Given the description of an element on the screen output the (x, y) to click on. 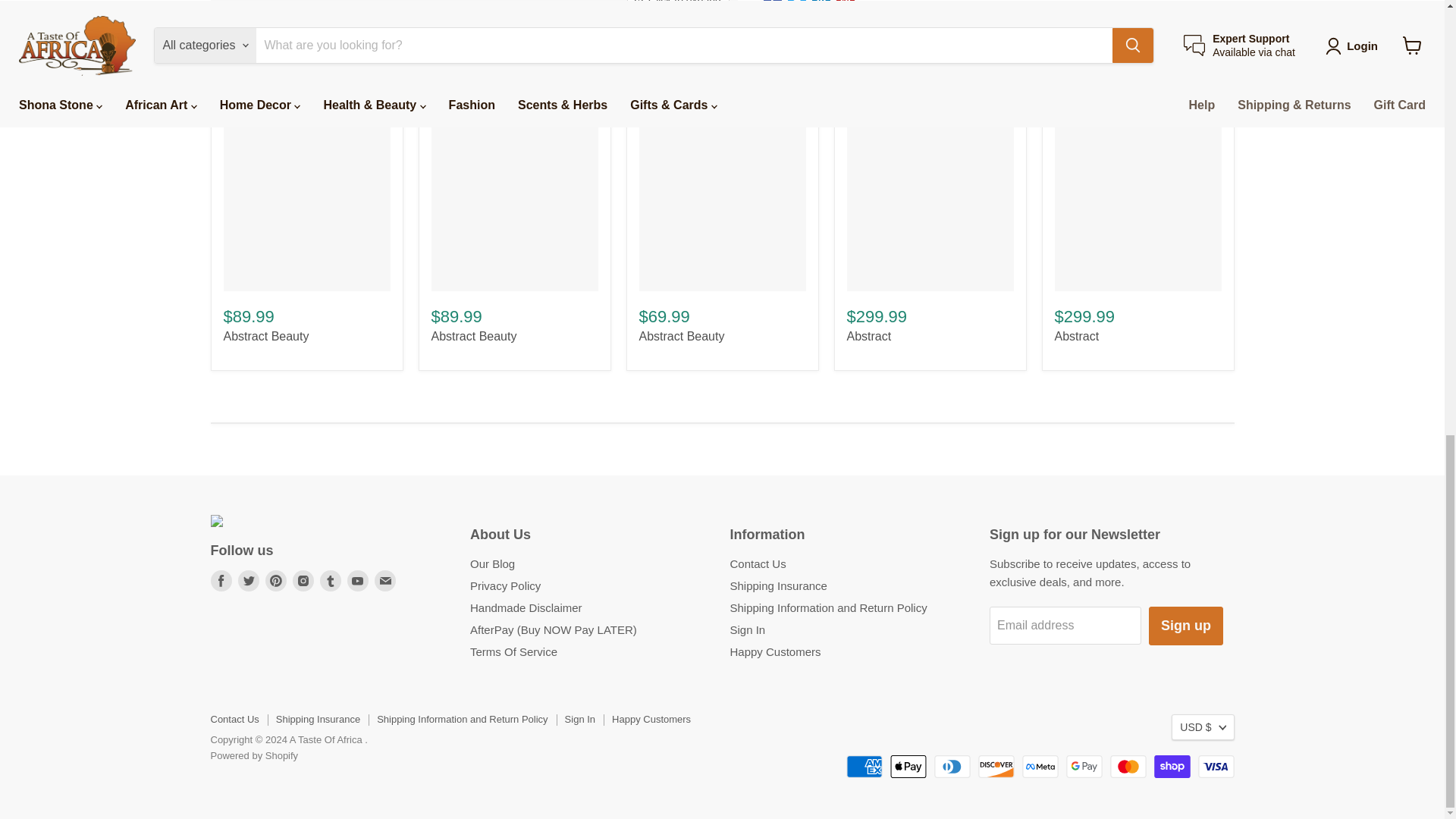
Facebook (221, 580)
Twitter (248, 580)
Email (385, 580)
Tumblr (330, 580)
Instagram (303, 580)
Youtube (357, 580)
Pinterest (275, 580)
